Given the description of an element on the screen output the (x, y) to click on. 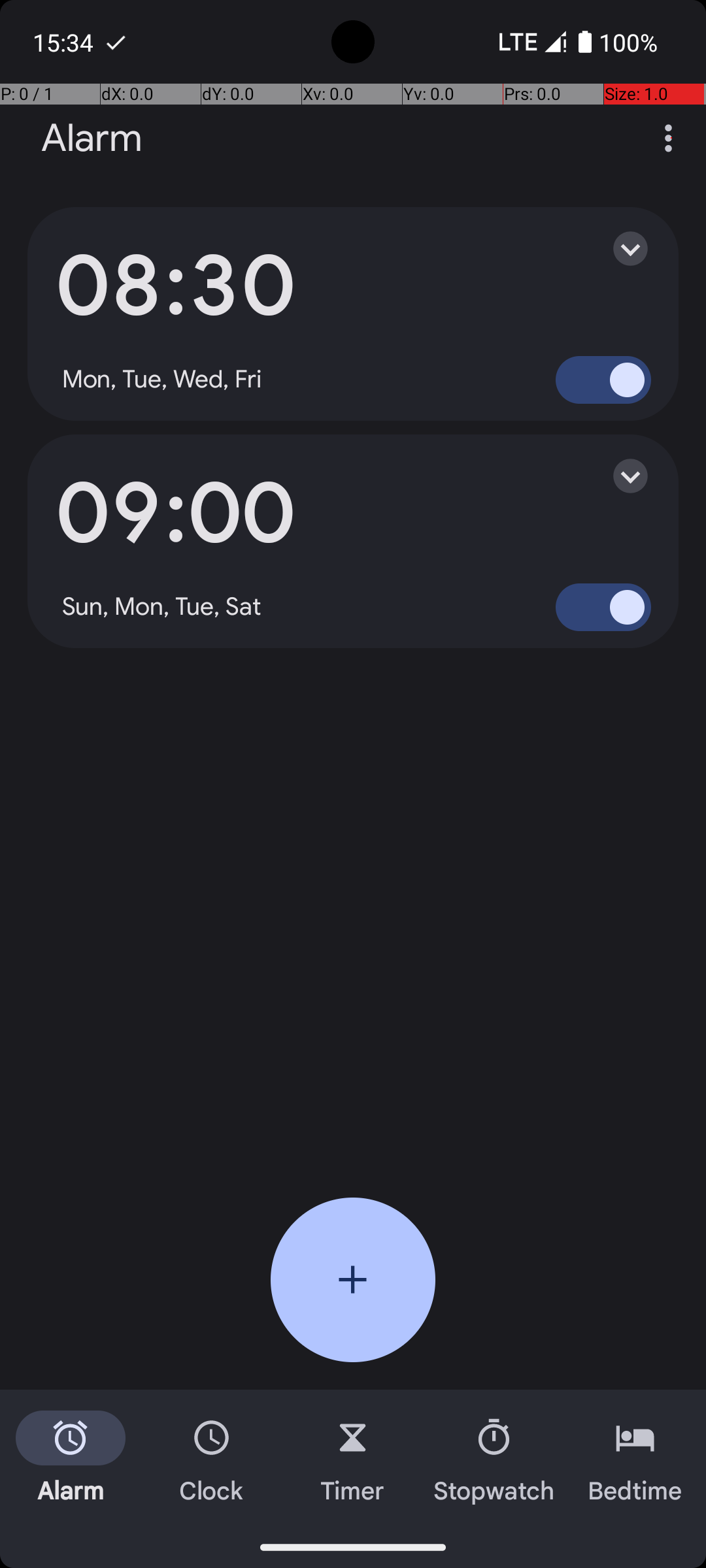
Mon, Tue, Wed, Fri Element type: android.widget.TextView (161, 379)
Sun, Mon, Tue, Sat Element type: android.widget.TextView (161, 606)
Contacts notification: Finished exporting contacts.vcf. Element type: android.widget.ImageView (115, 41)
